Given the description of an element on the screen output the (x, y) to click on. 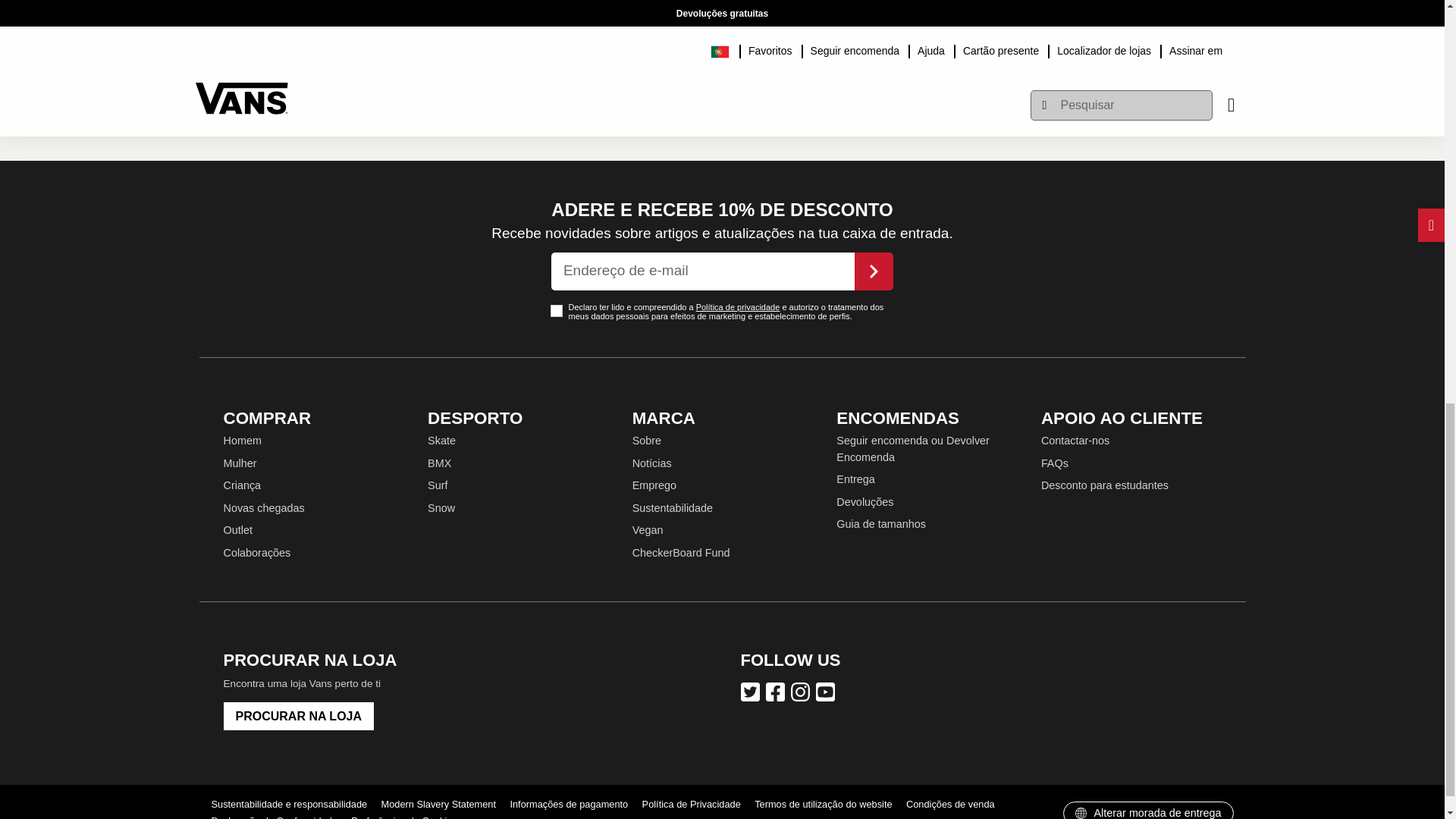
on (556, 310)
